Given the description of an element on the screen output the (x, y) to click on. 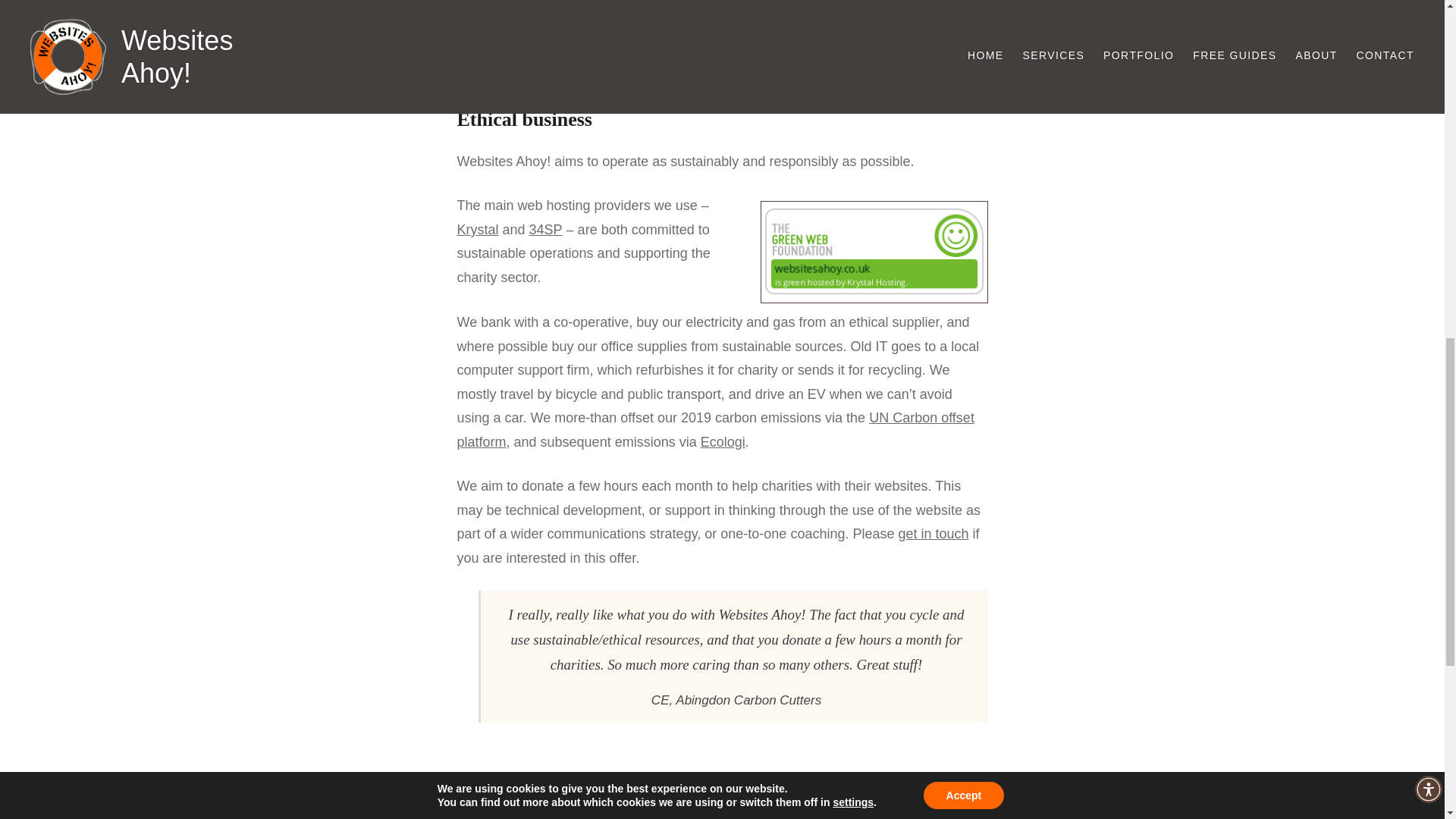
Krystal (477, 229)
Mastodon (492, 798)
Ecologi (722, 441)
Twitter (517, 798)
UN Carbon offset platform (715, 429)
Facebook (468, 798)
34SP (545, 229)
Facebook (468, 798)
Email (541, 798)
get in touch (933, 533)
